Given the description of an element on the screen output the (x, y) to click on. 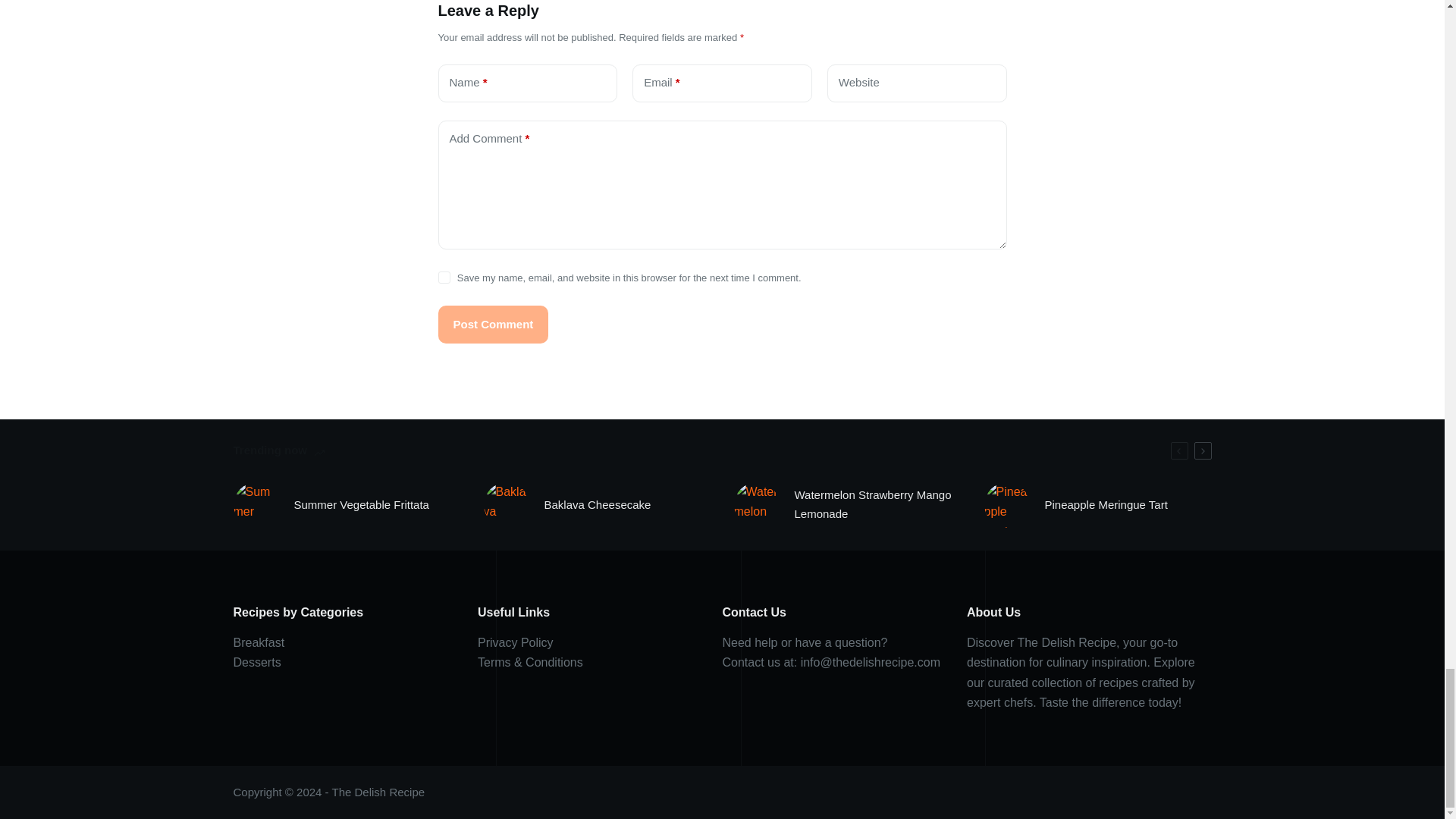
Privacy Policy (515, 642)
Watermelon Strawberry Mango Lemonade (877, 505)
Desserts (256, 662)
Post Comment (493, 324)
Breakfast (258, 642)
yes (443, 277)
Summer Vegetable Frittata (361, 505)
Baklava Cheesecake (597, 505)
Pineapple Meringue Tart (1106, 505)
